Given the description of an element on the screen output the (x, y) to click on. 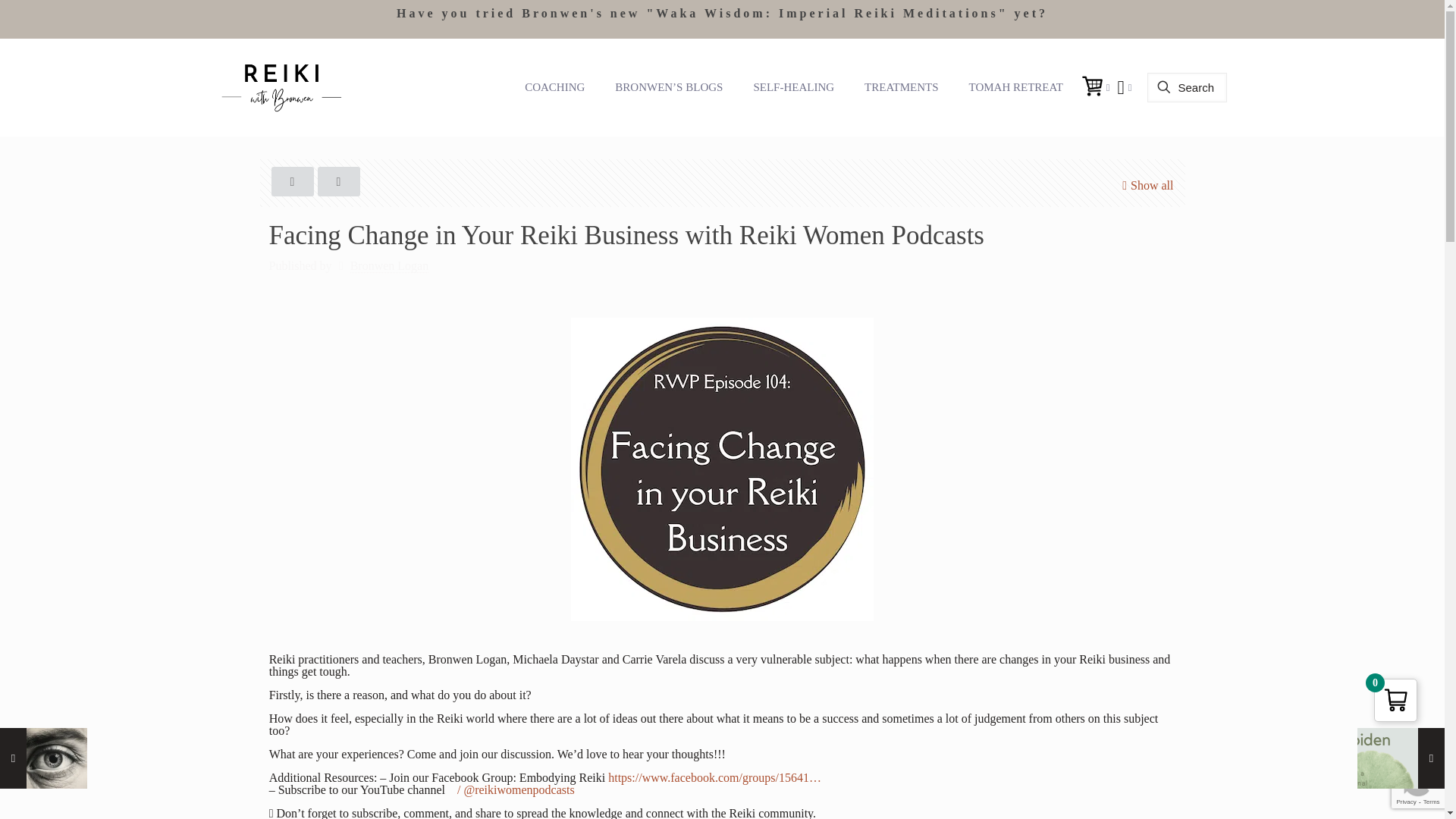
SELF-HEALING (793, 86)
Bronwen Logan (389, 265)
TREATMENTS (900, 86)
COACHING (554, 86)
TOMAH RETREAT (1015, 86)
Show all (1145, 185)
